Given the description of an element on the screen output the (x, y) to click on. 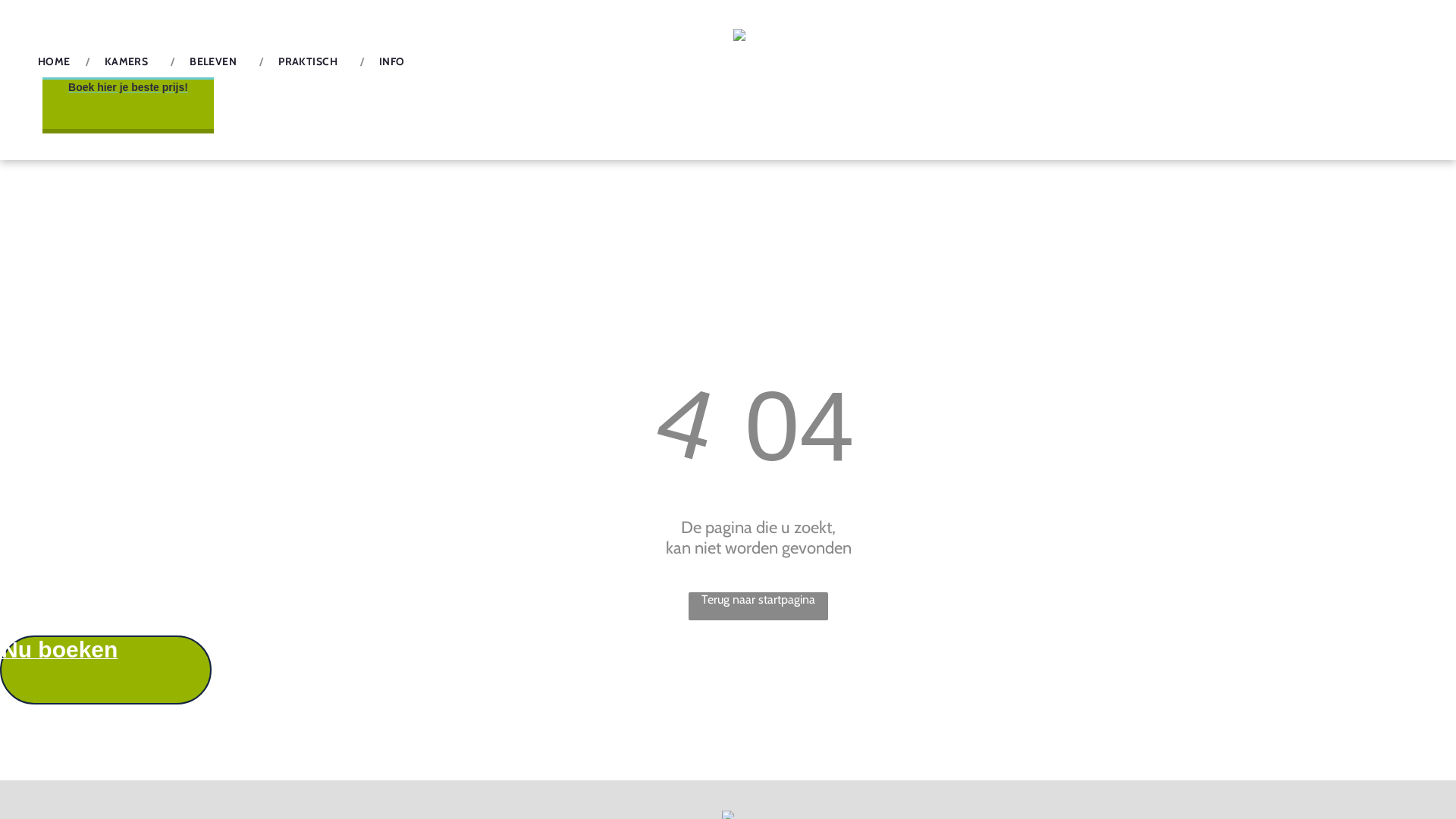
Boek hier je beste prijs! Element type: text (127, 106)
Nu boeken Element type: text (105, 669)
PRAKTISCH Element type: text (311, 61)
KAMERS Element type: text (130, 61)
INFO Element type: text (392, 61)
HOME Element type: text (53, 61)
Terug naar startpagina Element type: text (758, 606)
BELEVEN Element type: text (216, 61)
